Given the description of an element on the screen output the (x, y) to click on. 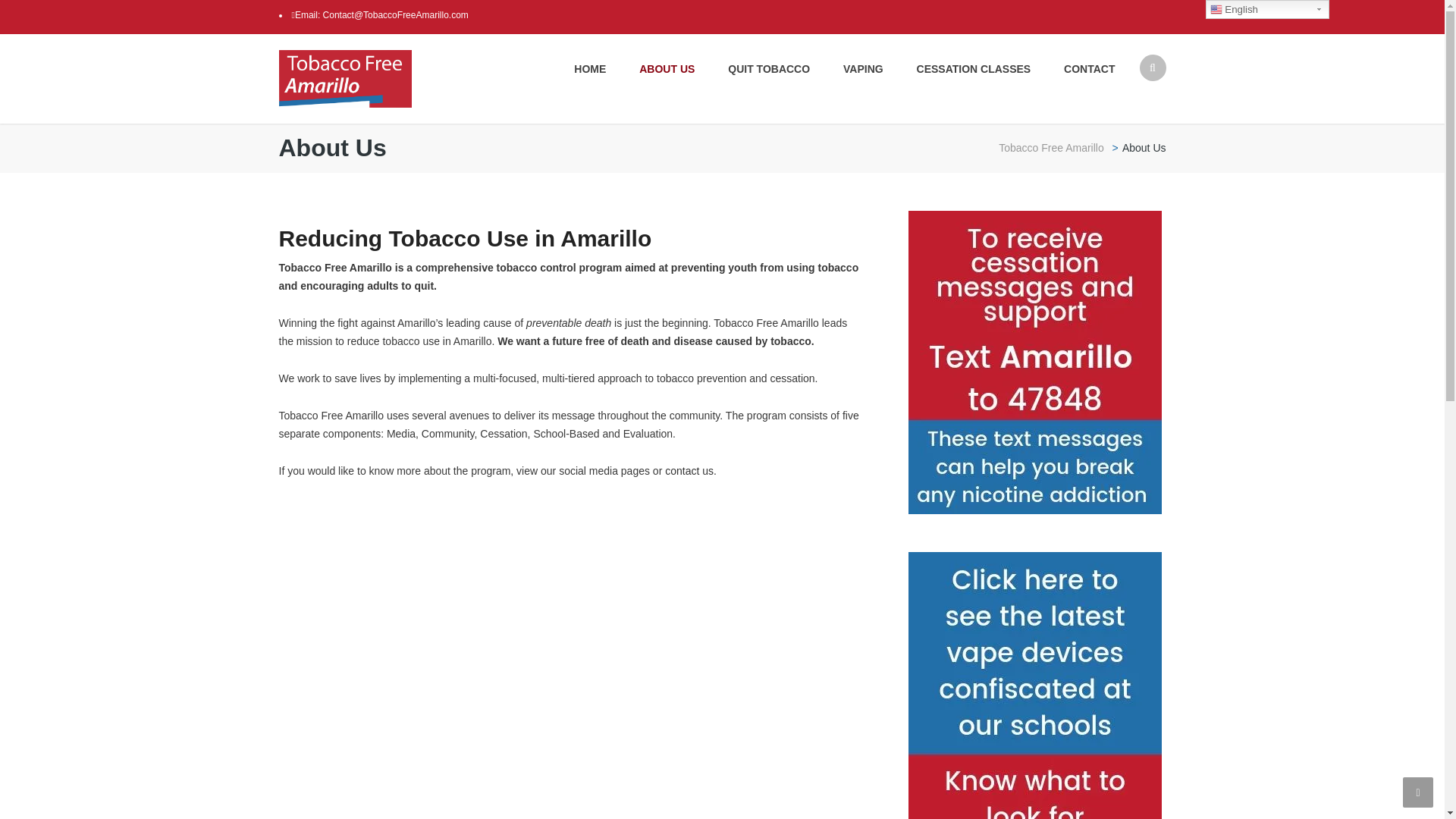
Tobacco Free Amarillo (345, 78)
HOME (590, 69)
VAPING (863, 69)
ABOUT US (667, 69)
Search (1144, 126)
QUIT TOBACCO (769, 69)
CONTACT (1081, 69)
CESSATION CLASSES (973, 69)
English (1267, 9)
contact us (689, 470)
